Given the description of an element on the screen output the (x, y) to click on. 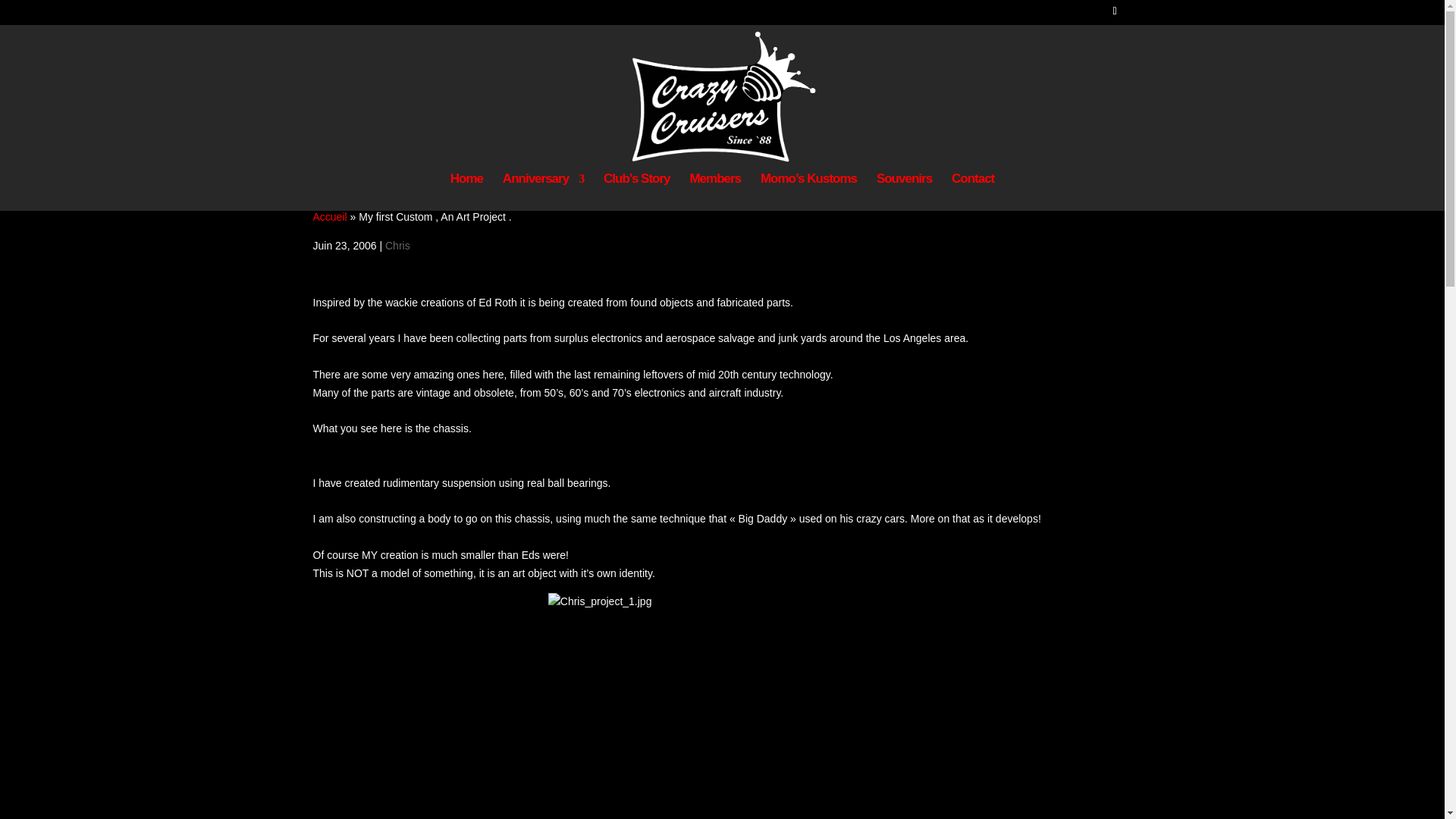
Contact (973, 191)
Members (714, 191)
Anniversary (542, 191)
Accueil (329, 216)
Chris (397, 245)
Souvenirs (903, 191)
